Given the description of an element on the screen output the (x, y) to click on. 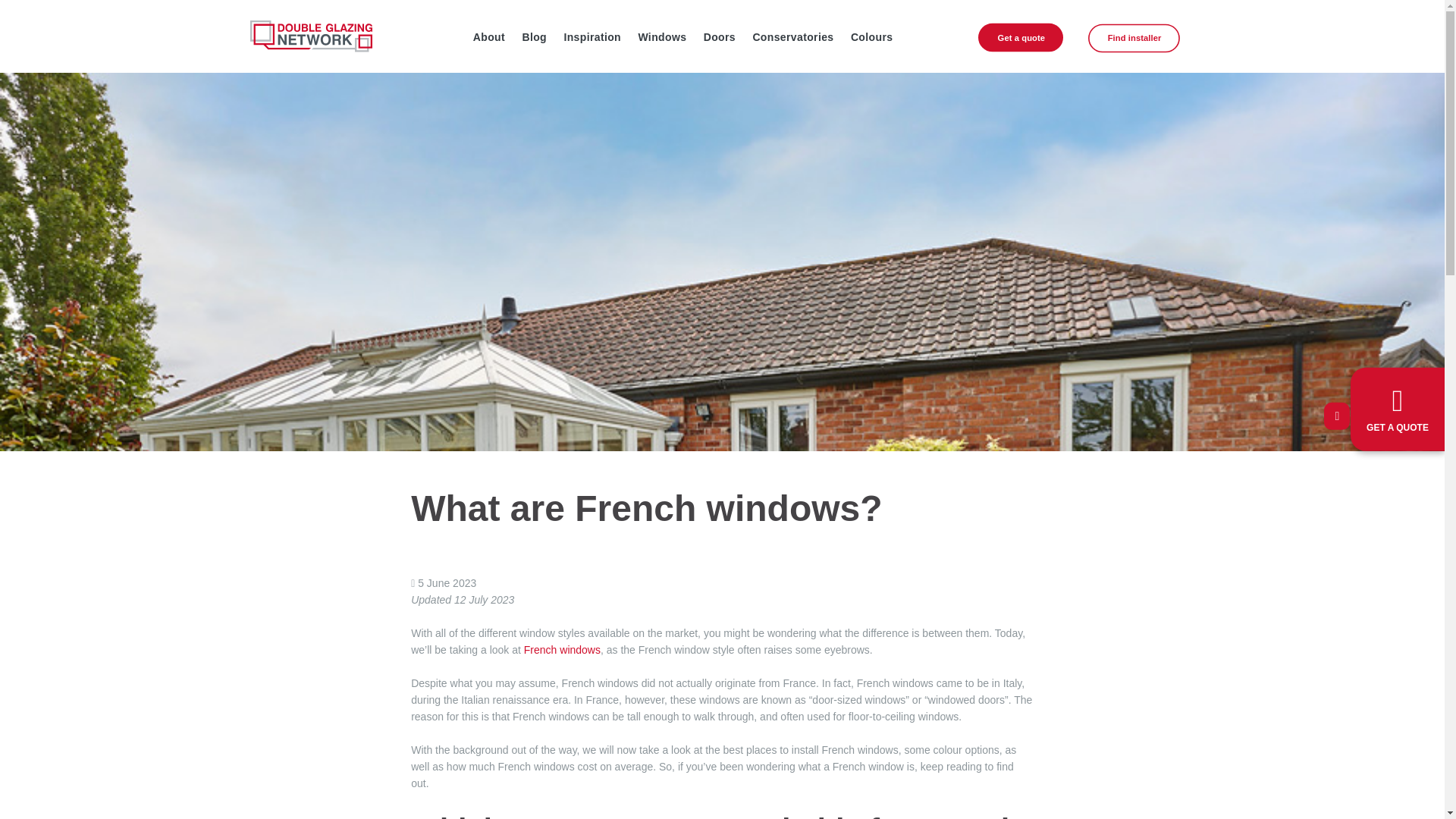
French windows (561, 649)
Windows (661, 36)
Doors (719, 36)
Find installer (1144, 41)
Inspiration (591, 36)
Conservatories (793, 36)
About (488, 36)
Blog (533, 36)
Colours (872, 36)
Get a quote (1031, 40)
